Given the description of an element on the screen output the (x, y) to click on. 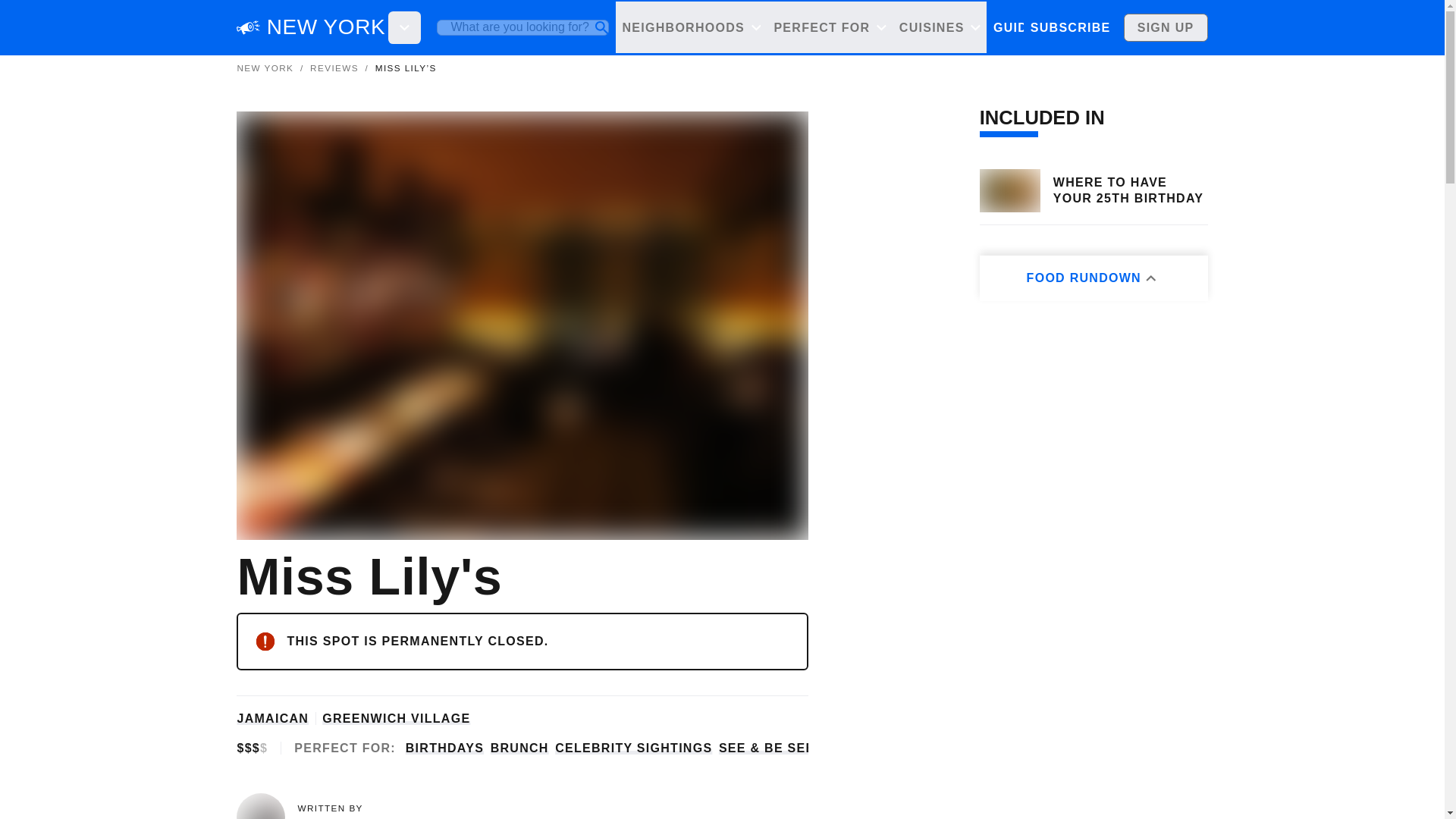
WHERE TO HAVE YOUR 25TH BIRTHDAY (1130, 190)
NEIGHBORHOODS (691, 27)
NEW YORK (325, 26)
REVIEWS (334, 67)
CUISINES (939, 27)
SUBSCRIBE (1069, 27)
What are you looking for? (522, 27)
CELEBRITY SIGHTINGS (632, 747)
REVIEWS (1090, 27)
GUIDES (1019, 27)
